Given the description of an element on the screen output the (x, y) to click on. 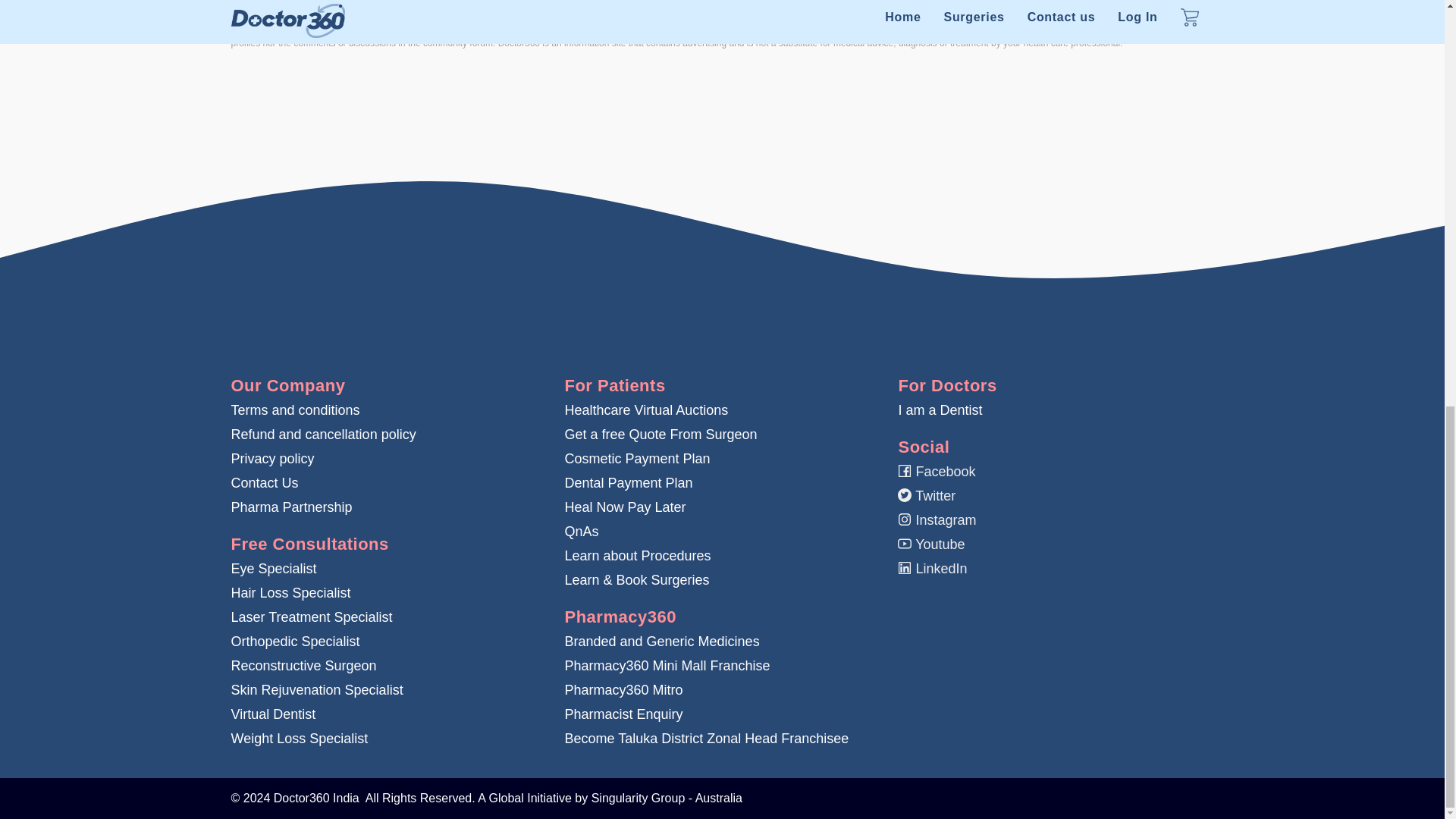
Privacy policy (272, 458)
Laser Treatment Specialist (310, 616)
Become Taluka District Zonal Head Franchisee (706, 738)
Orthopedic Specialist (294, 641)
Pharma Partnership (291, 507)
Reconstructive Surgeon (302, 665)
Heal Now Pay Later (624, 507)
QnAs (581, 531)
Eye Specialist (272, 568)
Pharmacy360 Mitro (623, 689)
